Given the description of an element on the screen output the (x, y) to click on. 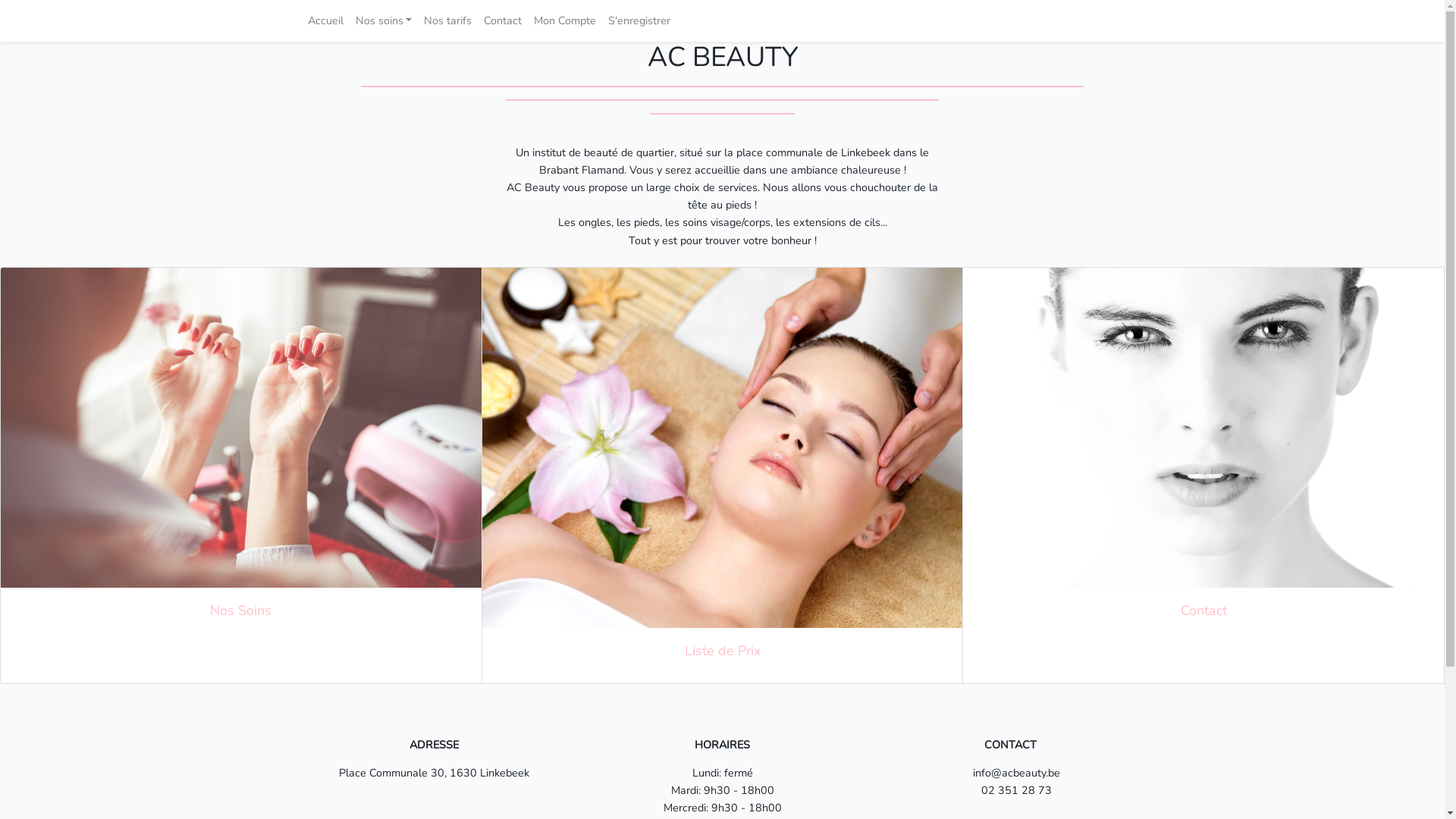
Mon Compte Element type: text (564, 20)
Nos tarifs Element type: text (447, 20)
Liste de Prix Element type: text (722, 475)
S'enregistrer Element type: text (639, 20)
Contact Element type: text (1203, 455)
Contact Element type: text (502, 20)
Accueil Element type: text (325, 20)
Nos soins Element type: text (382, 20)
Nos Soins Element type: text (240, 455)
